Given the description of an element on the screen output the (x, y) to click on. 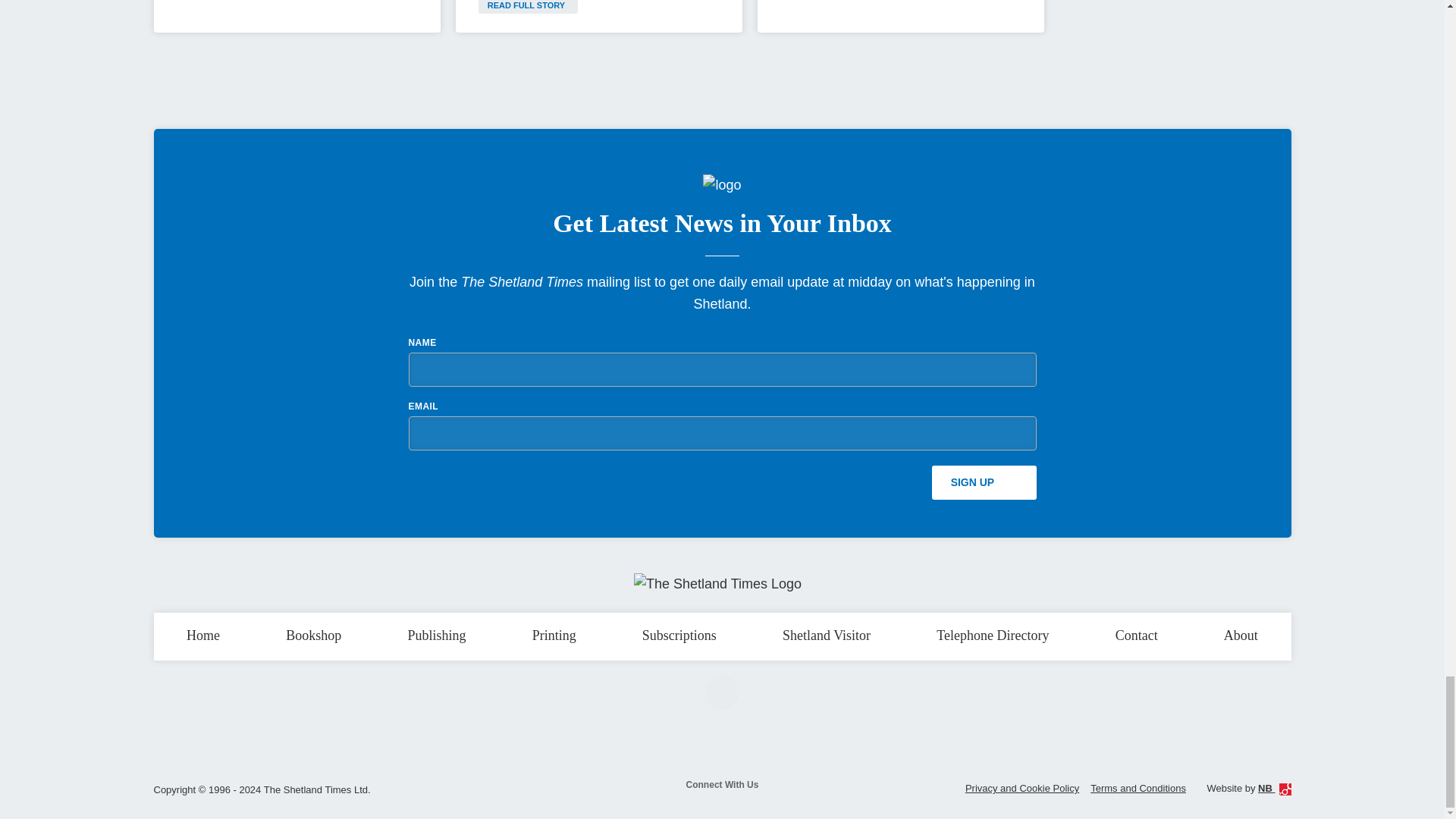
Shetland's website design and internet marketing specialists (1273, 787)
READ FULL STORY (528, 6)
